Given the description of an element on the screen output the (x, y) to click on. 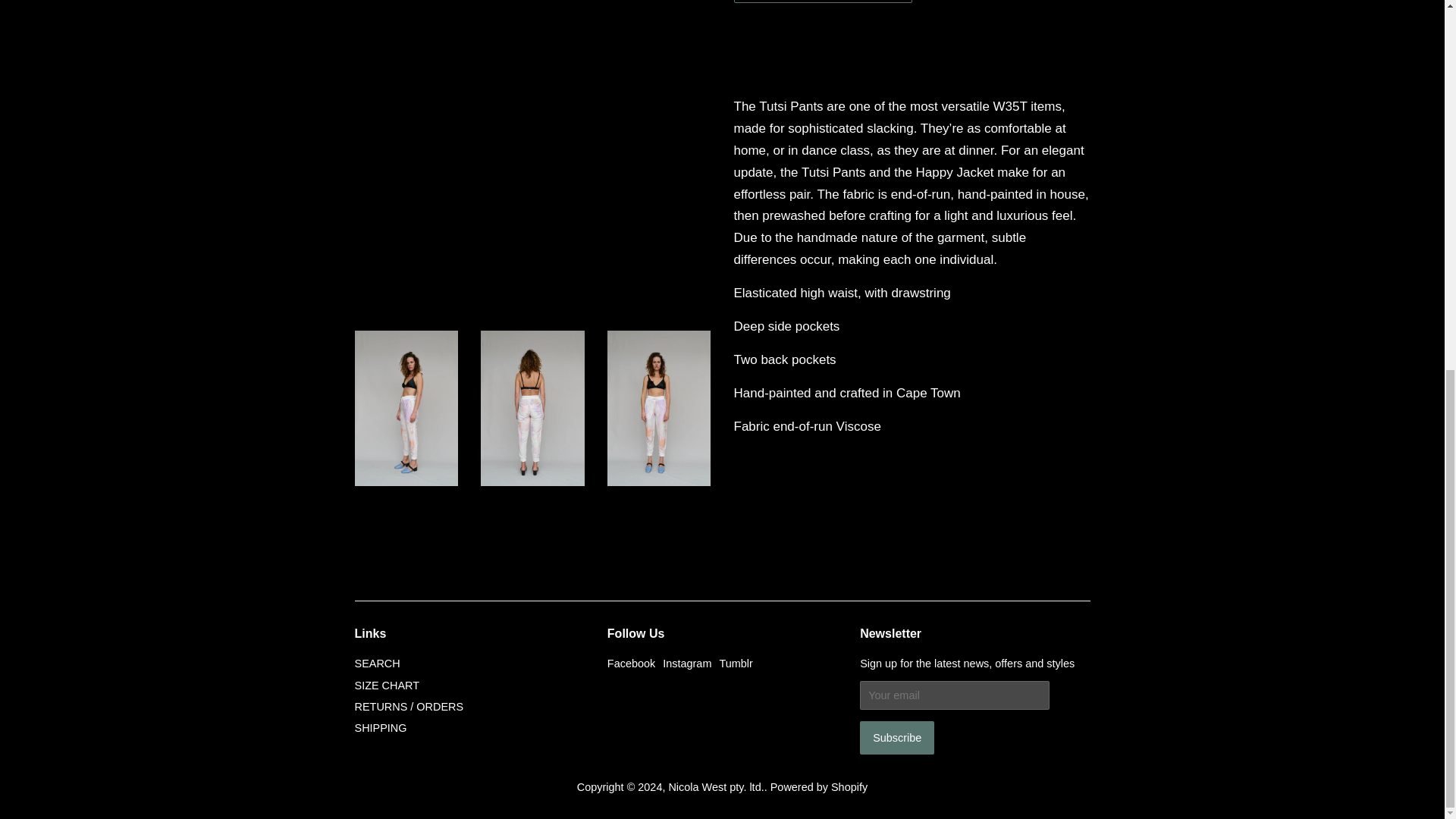
Nicola West pty. ltd. on Tumblr (735, 663)
Nicola West pty. ltd. on Instagram (686, 663)
SIZE CHART (387, 685)
Add to Cart (822, 1)
Subscribe (897, 737)
Nicola West pty. ltd. on Facebook (631, 663)
SHIPPING (381, 727)
Facebook (631, 663)
SEARCH (377, 663)
